Given the description of an element on the screen output the (x, y) to click on. 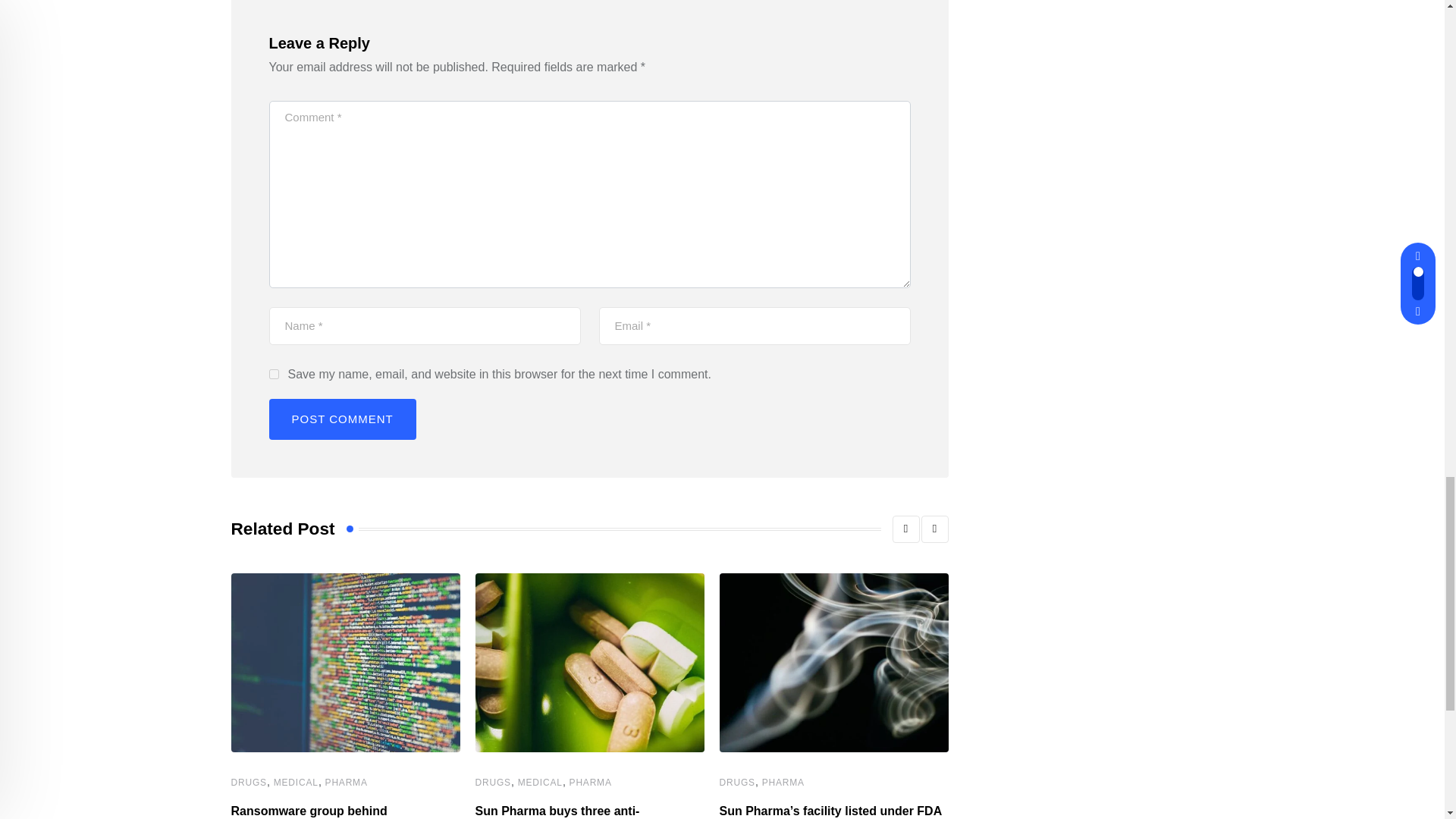
Post Comment (340, 418)
yes (272, 374)
